Given the description of an element on the screen output the (x, y) to click on. 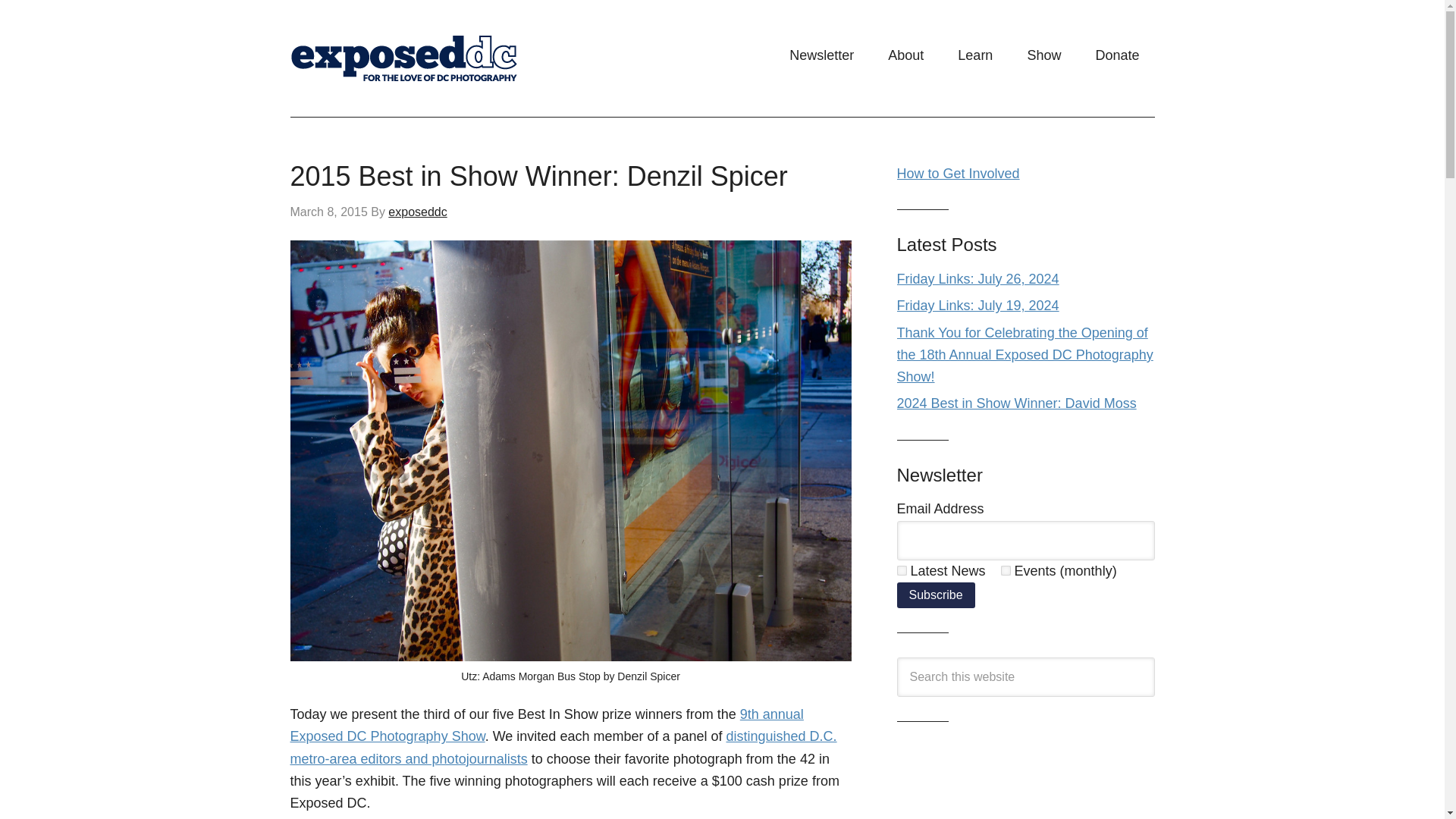
Show (1043, 55)
Newsletter (821, 55)
2015 Best in Show Winner: Denzil Spicer (538, 175)
About (905, 55)
Donate (1117, 55)
9th annual Exposed DC Photography Show (546, 724)
2 (1005, 570)
Learn (974, 55)
exposeddc (417, 211)
distinguished D.C. metro-area editors and photojournalists (562, 746)
Exposed DC Photography Show Opens March 12 (546, 724)
1 (900, 570)
exposed dc (440, 58)
